Given the description of an element on the screen output the (x, y) to click on. 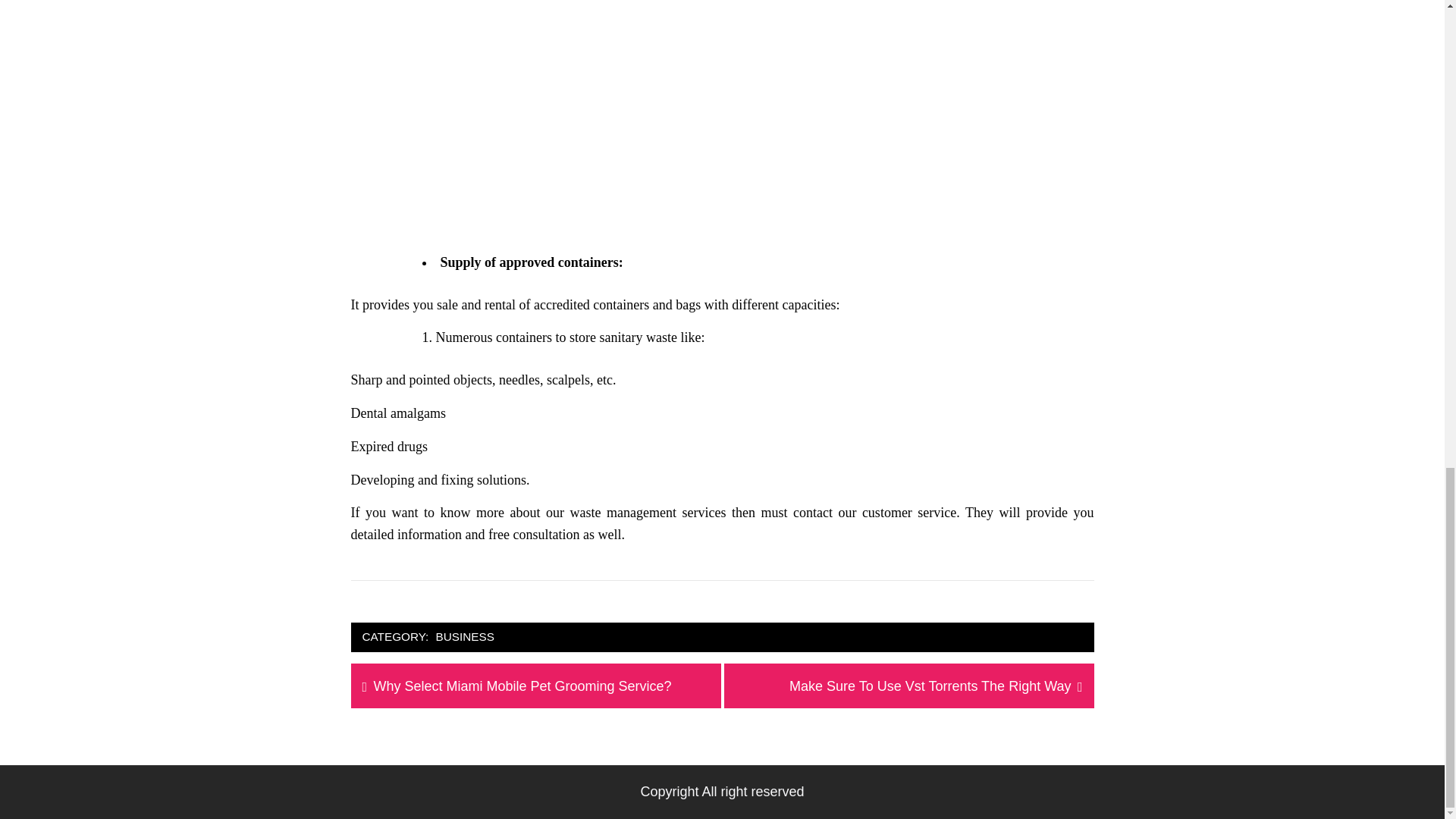
BUSINESS (930, 686)
